Given the description of an element on the screen output the (x, y) to click on. 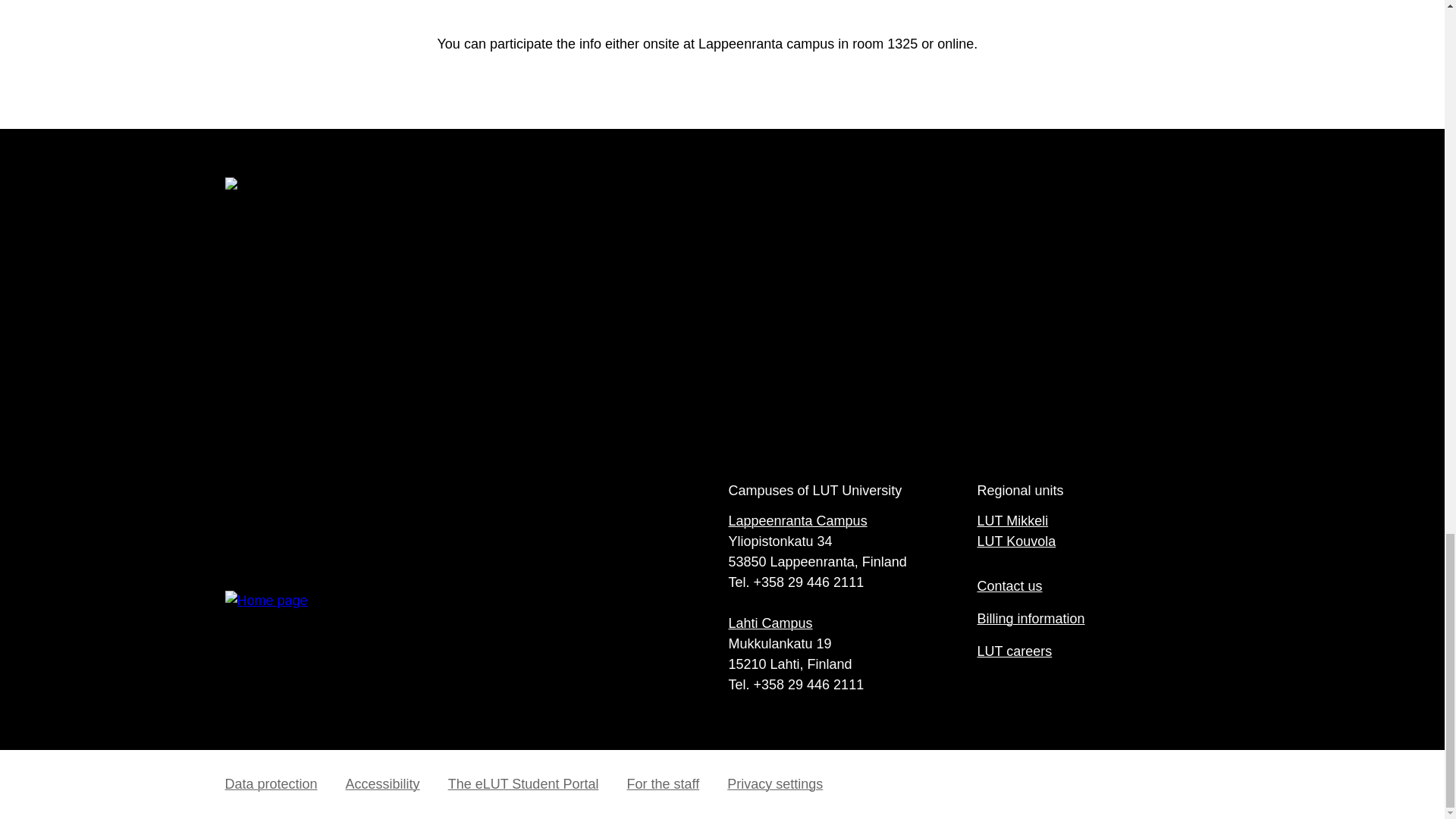
Home page (473, 645)
